Given the description of an element on the screen output the (x, y) to click on. 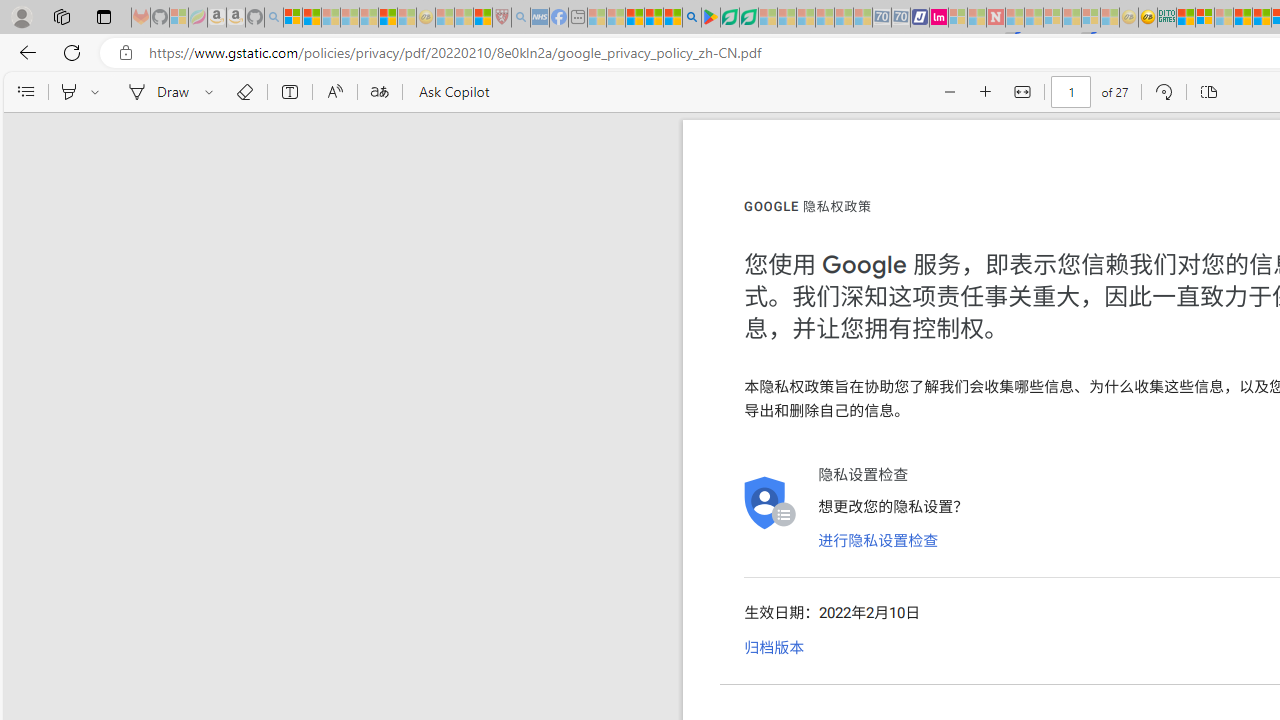
Local - MSN (482, 17)
Page number (1070, 92)
Highlight (68, 92)
Contents (25, 92)
Rotate (Ctrl+]) (1163, 92)
Add text (289, 92)
